Given the description of an element on the screen output the (x, y) to click on. 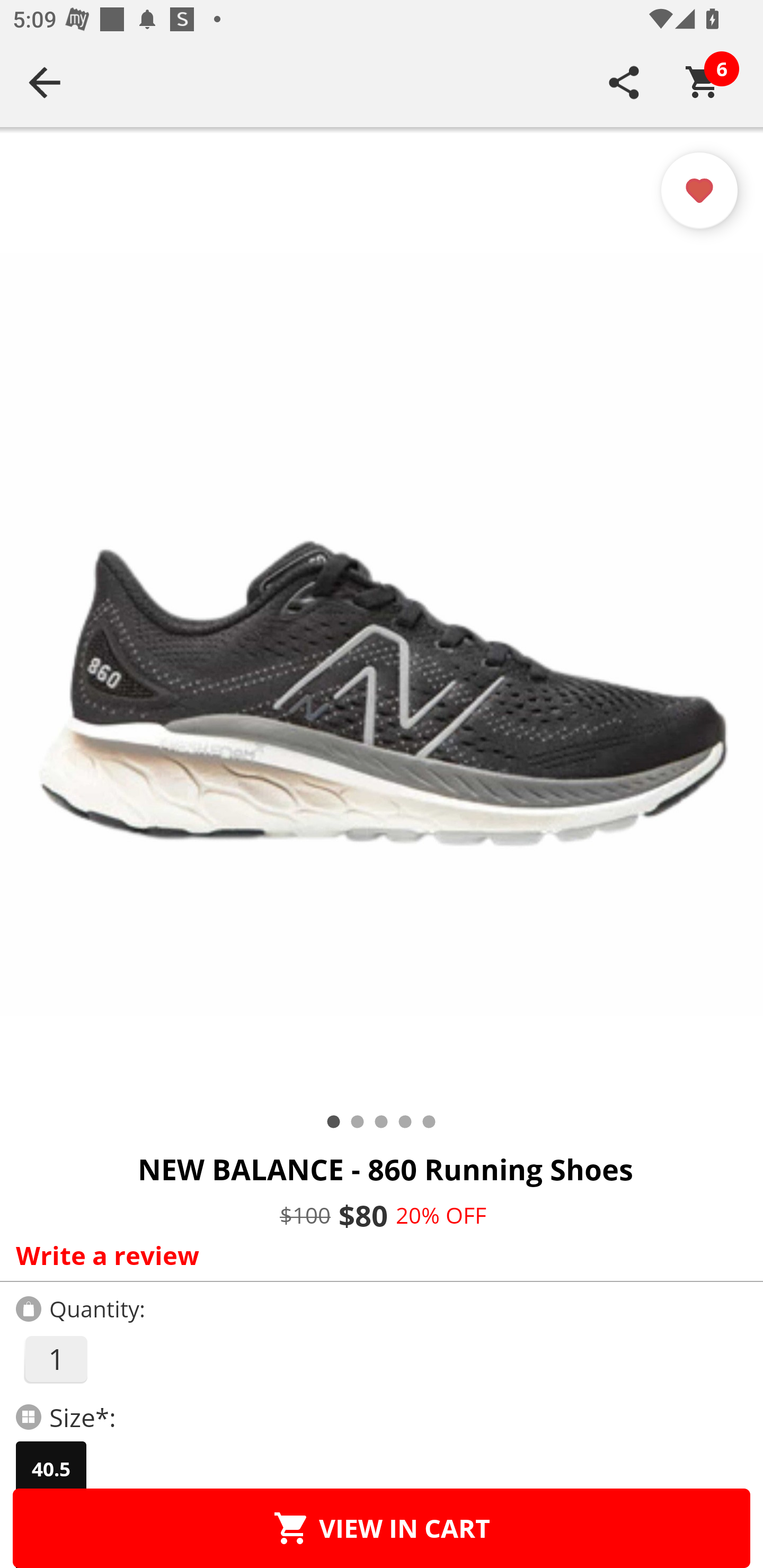
Navigate up (44, 82)
SHARE (623, 82)
Cart (703, 81)
Write a review (377, 1255)
1 (55, 1358)
40.5 (51, 1468)
VIEW IN CART (381, 1528)
